Given the description of an element on the screen output the (x, y) to click on. 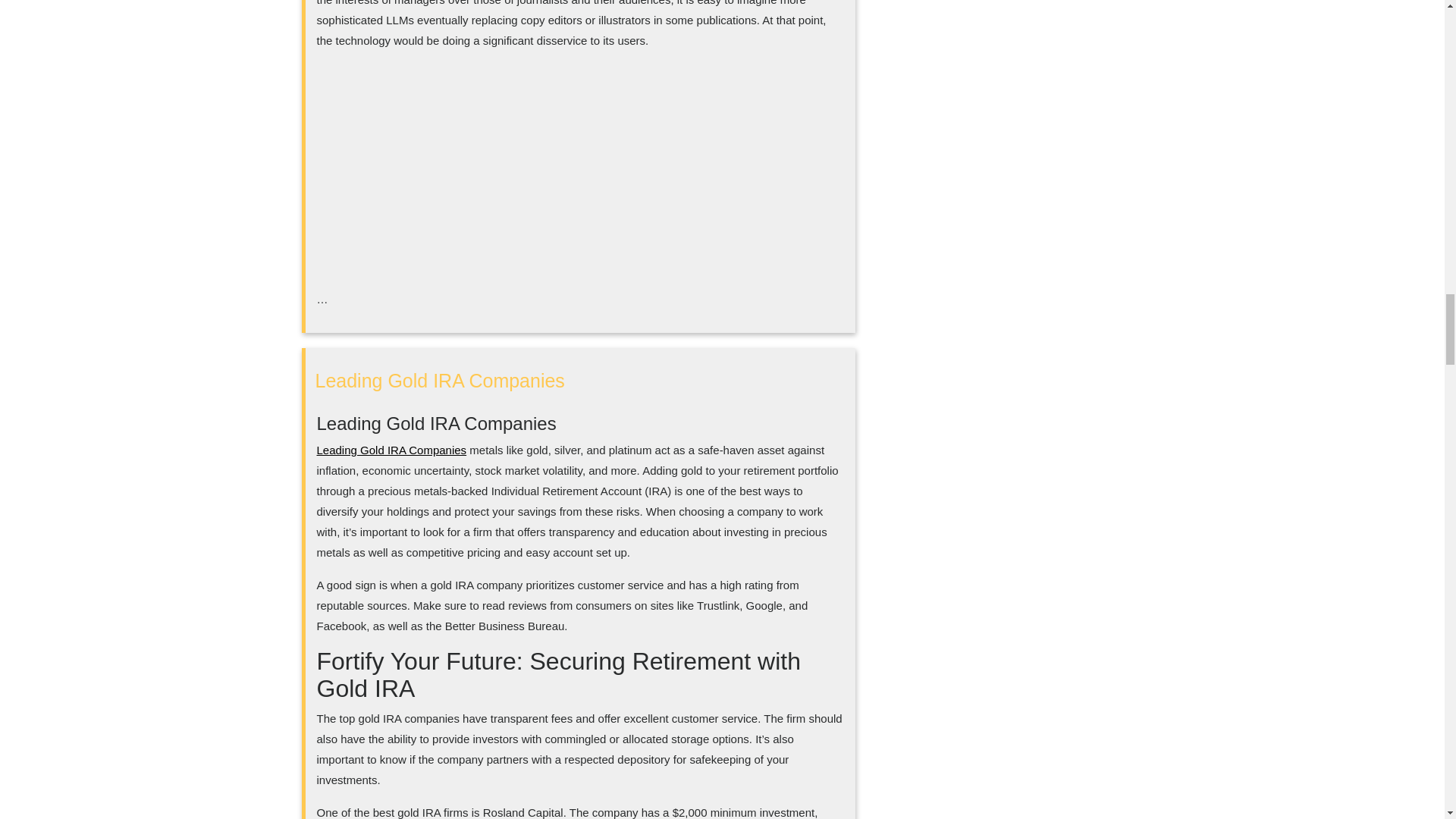
Leading Gold IRA Companies (392, 449)
Leading Gold IRA Companies (439, 380)
